Given the description of an element on the screen output the (x, y) to click on. 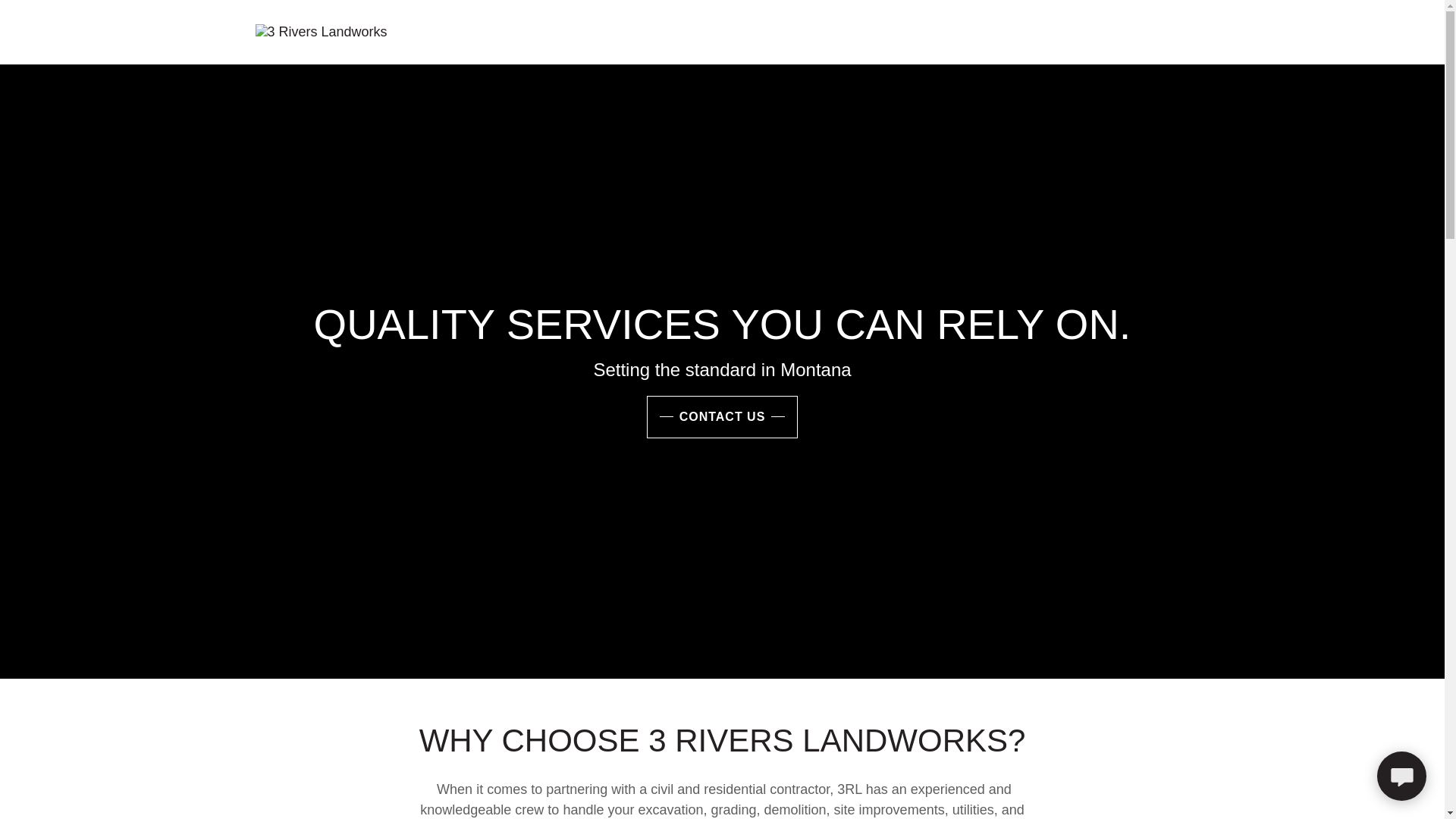
3 Rivers Landworks Element type: hover (320, 31)
CONTACT US Element type: text (722, 416)
